Given the description of an element on the screen output the (x, y) to click on. 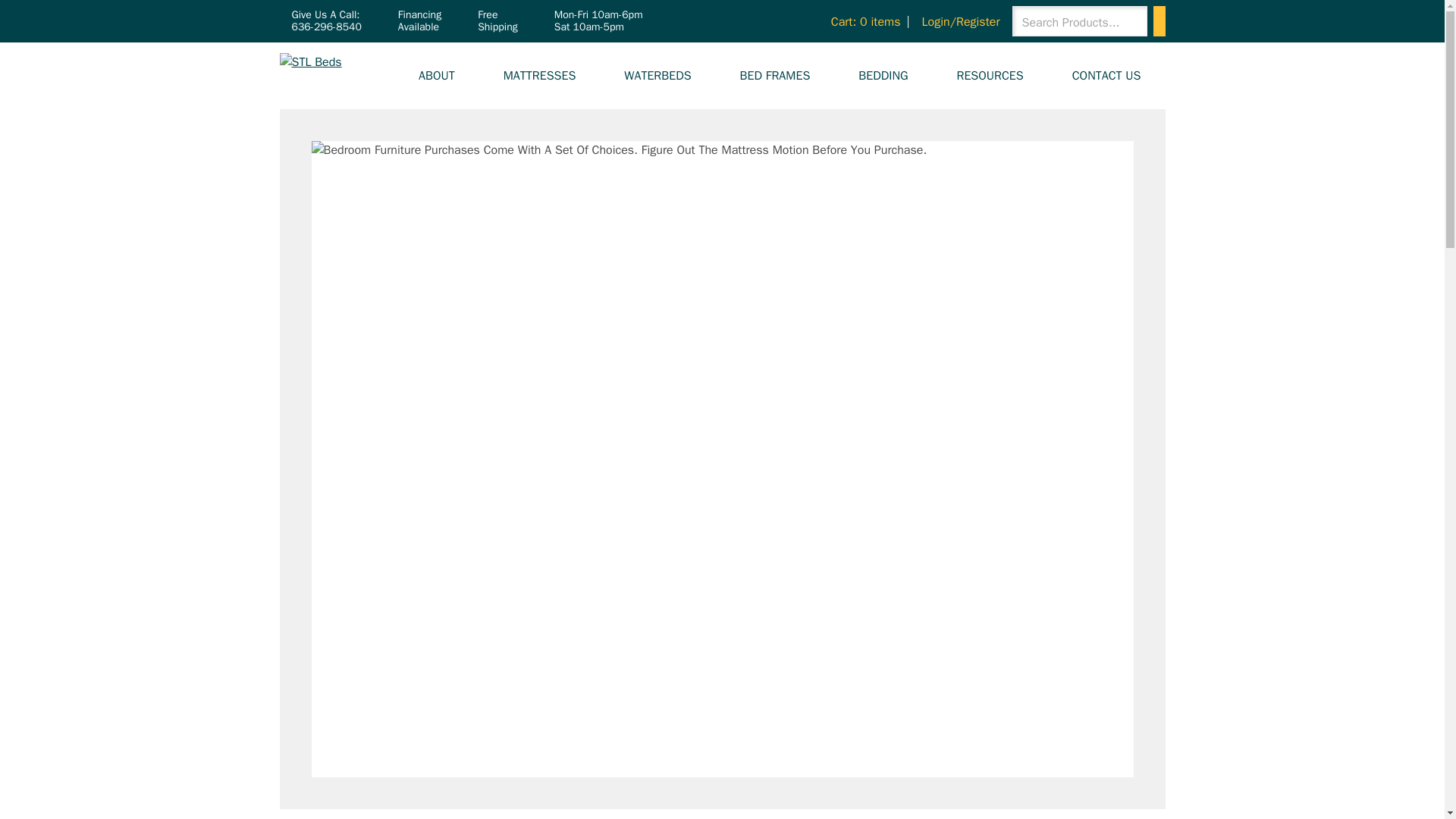
BEDDING (882, 75)
About (436, 75)
ABOUT (436, 75)
WATERBEDS (656, 75)
Mattresses (539, 75)
Cart: 0 items (863, 21)
BED FRAMES (775, 75)
RESOURCES (988, 75)
View your shopping cart! (863, 21)
Waterbeds (656, 75)
Search (1158, 20)
MATTRESSES (539, 75)
